Given the description of an element on the screen output the (x, y) to click on. 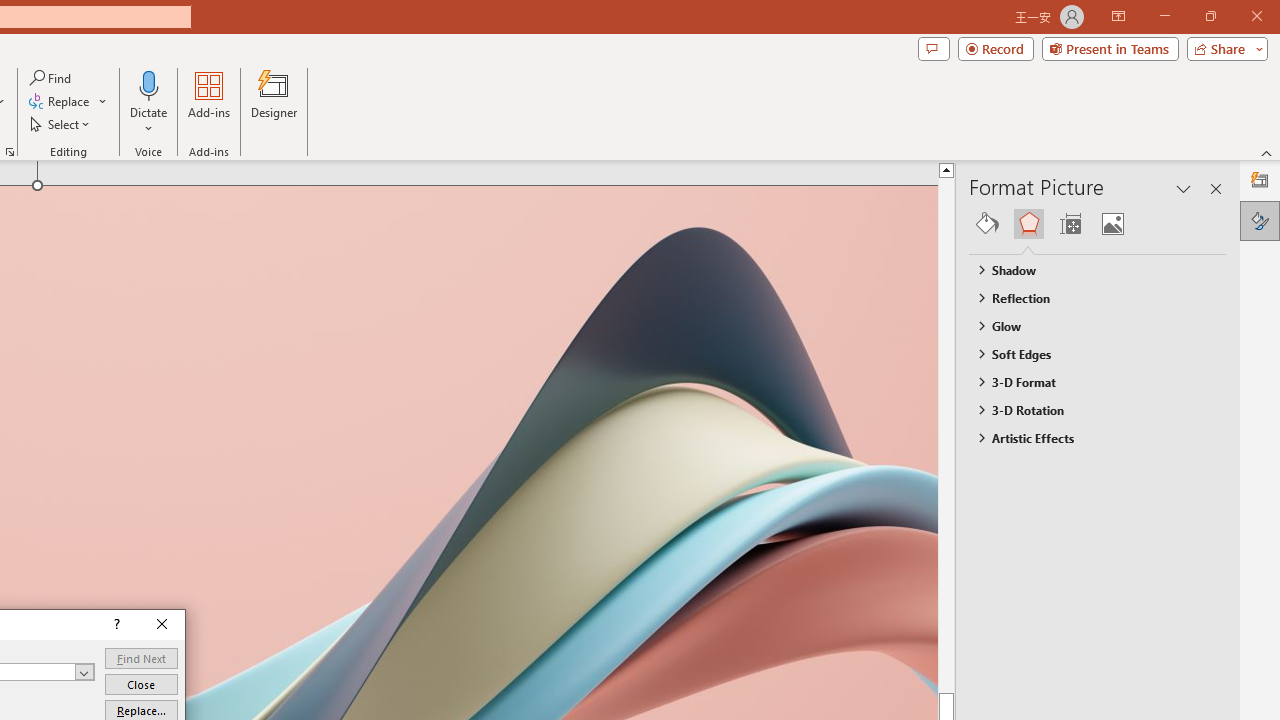
Page up (983, 434)
Context help (115, 624)
Reflection (1088, 297)
3-D Format (1088, 381)
Designer (274, 102)
Designer (1260, 180)
Select (61, 124)
3-D Rotation (1088, 410)
